Given the description of an element on the screen output the (x, y) to click on. 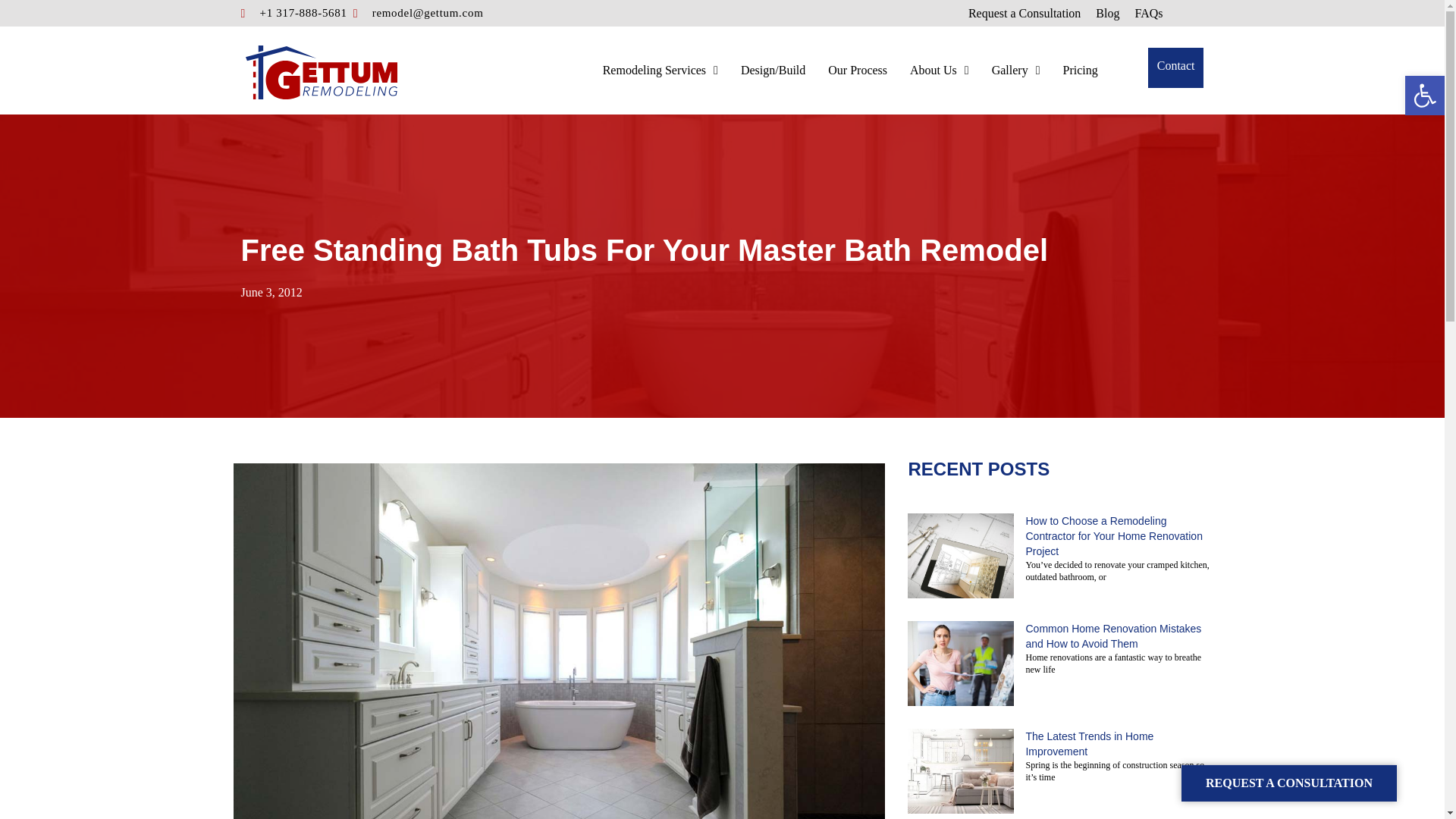
Skip to content (15, 7)
Request a Consultation (1024, 15)
Contact (1176, 67)
Accessibility Tools (1424, 95)
Remodeling Services (660, 69)
Pricing (1080, 69)
Our Process (858, 69)
Gallery (1016, 69)
FAQs (1147, 15)
About Us (939, 69)
